Given the description of an element on the screen output the (x, y) to click on. 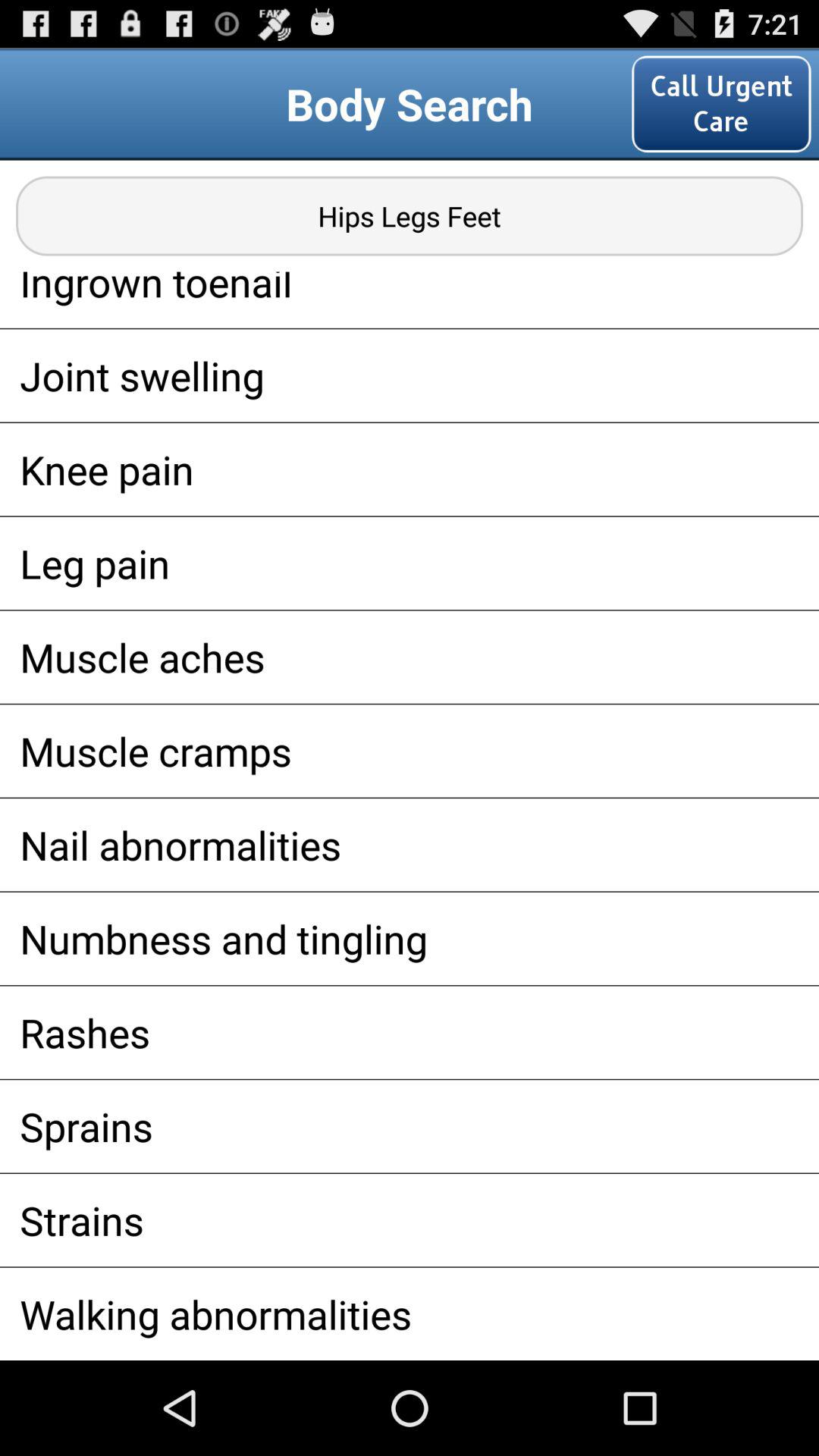
jump to the call urgent care item (721, 103)
